Given the description of an element on the screen output the (x, y) to click on. 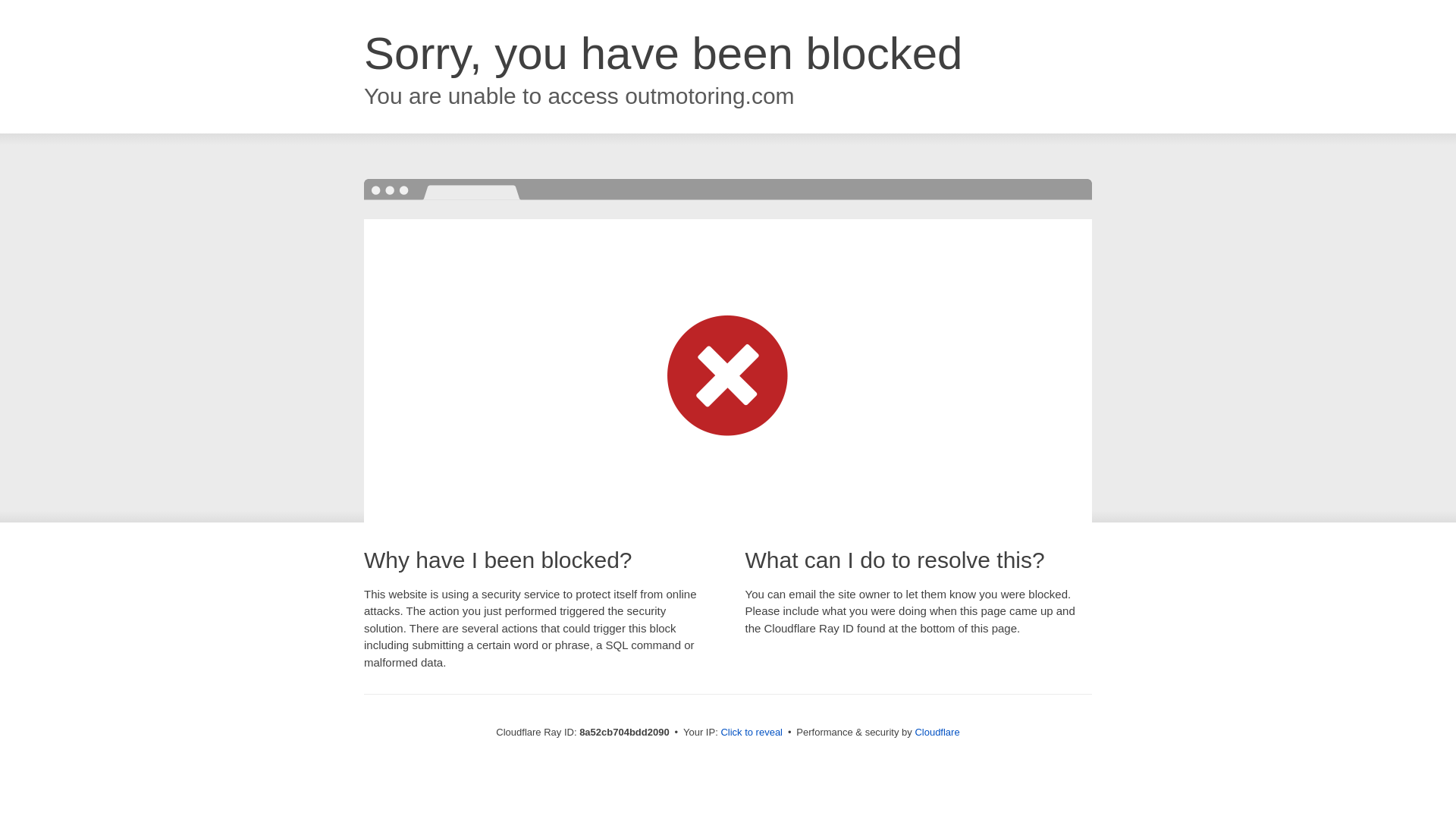
Cloudflare (936, 731)
Click to reveal (751, 732)
